Given the description of an element on the screen output the (x, y) to click on. 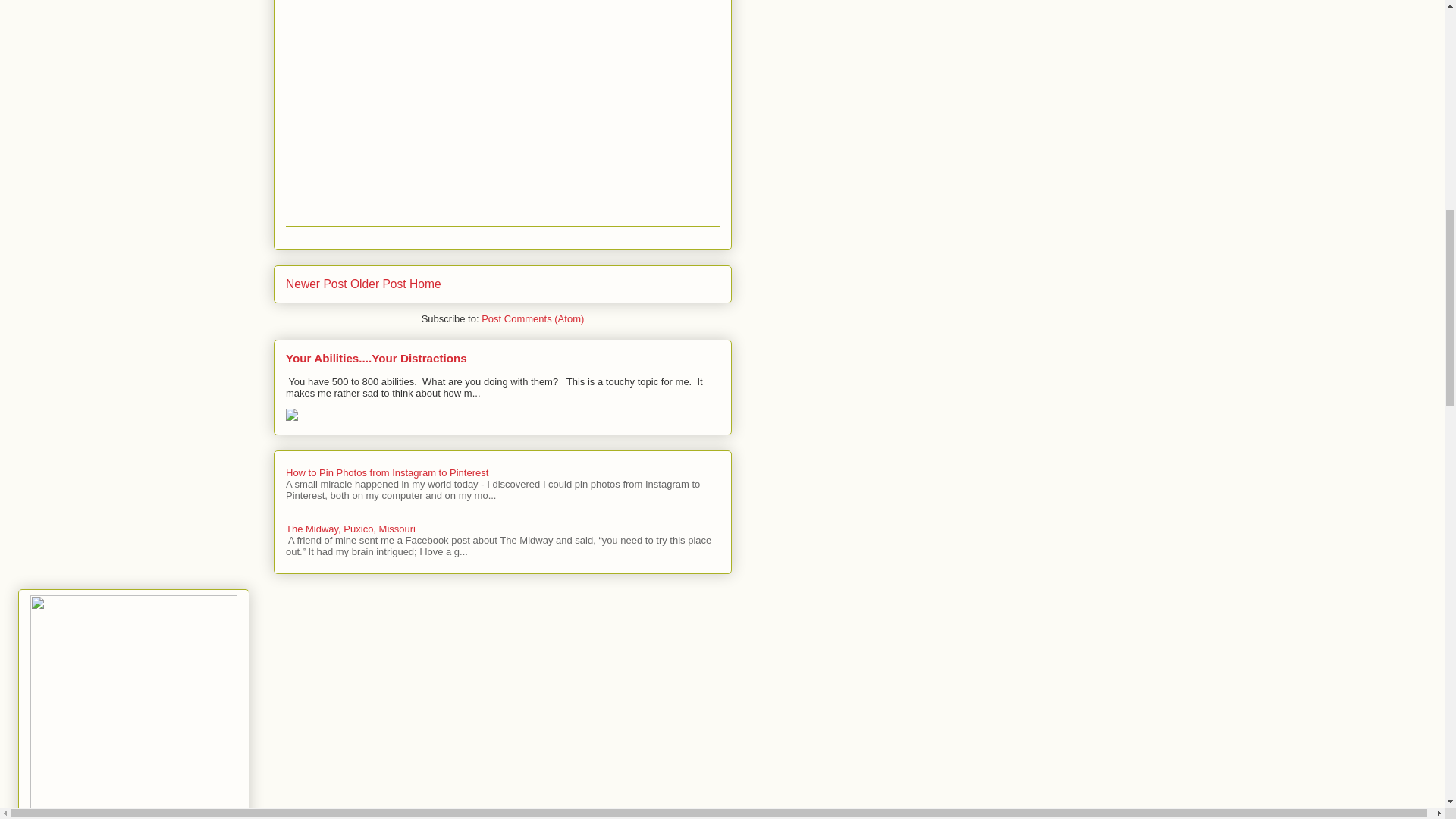
Older Post (378, 283)
How to Pin Photos from Instagram to Pinterest (386, 472)
Newer Post (316, 283)
Older Post (378, 283)
The Midway, Puxico, Missouri (349, 528)
Home (425, 283)
Your Abilities....Your Distractions (376, 358)
Newer Post (316, 283)
